Given the description of an element on the screen output the (x, y) to click on. 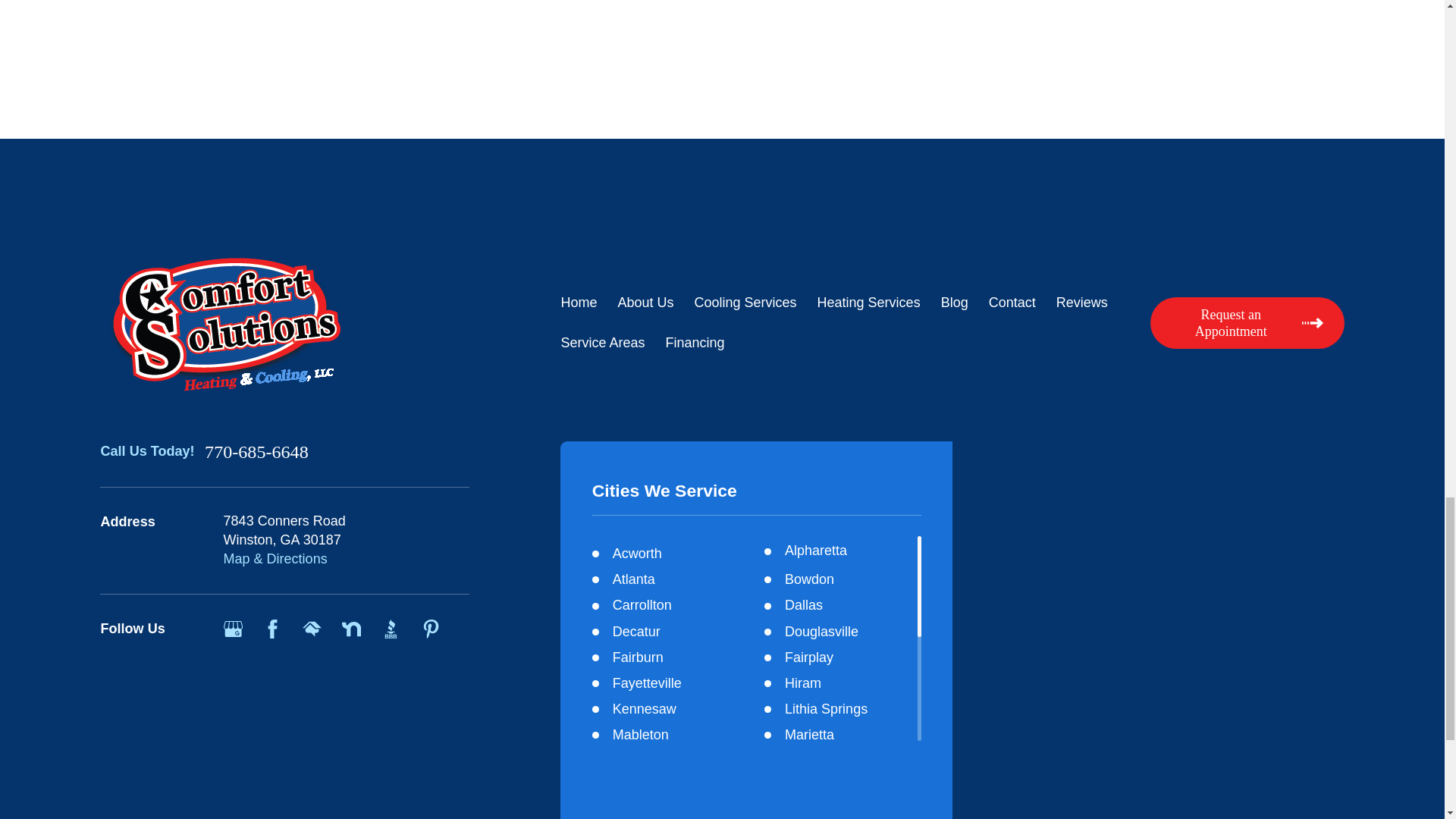
Pinterest (431, 628)
Home (284, 322)
BBB.org (390, 628)
HomeAdvisor (311, 628)
Google Business Profile (233, 628)
Nextdoor (351, 628)
Facebook (272, 628)
